Given the description of an element on the screen output the (x, y) to click on. 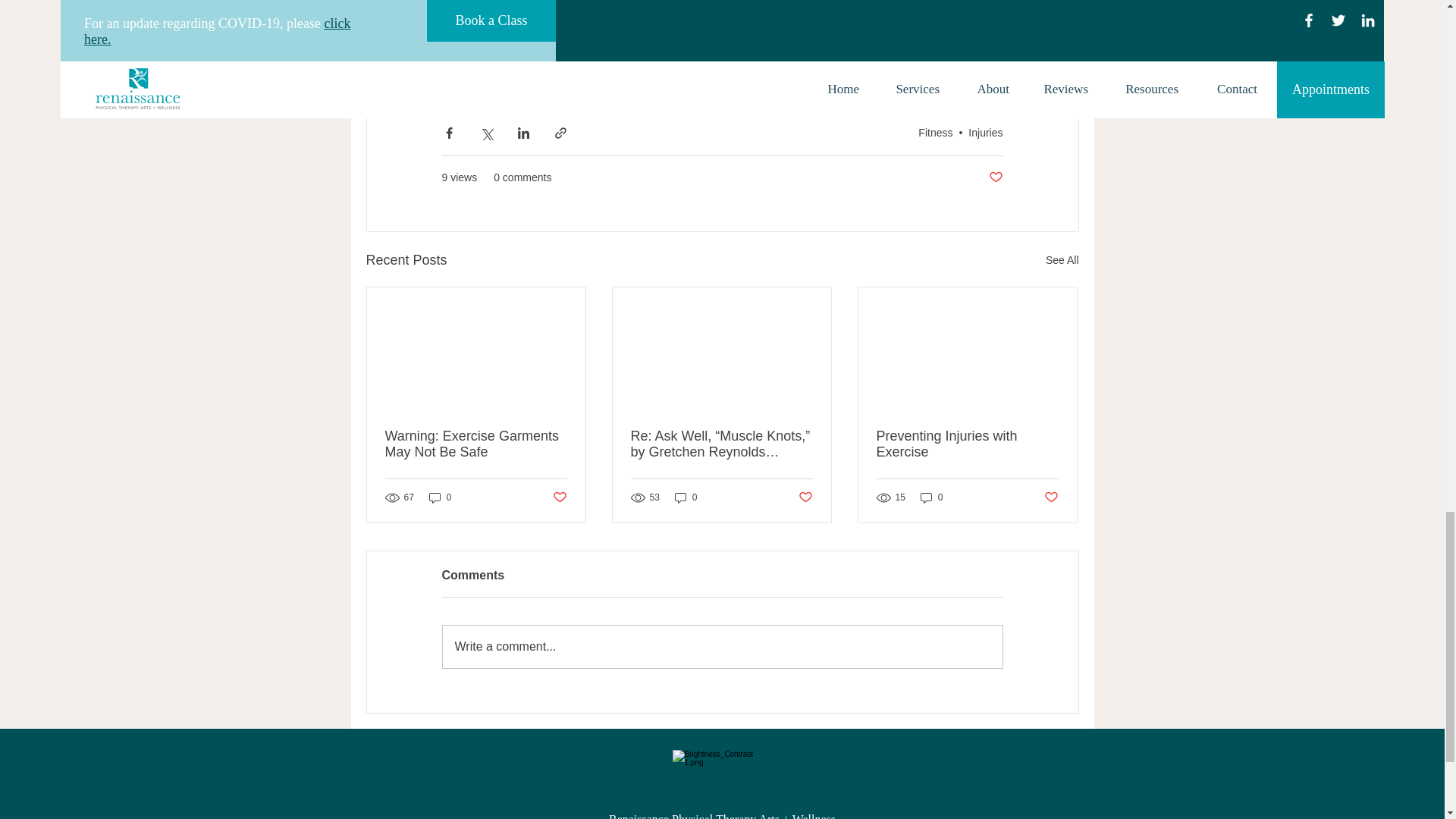
See All (1061, 260)
Warning: Exercise Garments May Not Be Safe (476, 444)
Post not marked as liked (558, 497)
Fitness (935, 132)
0 (440, 497)
Injuries (985, 132)
Post not marked as liked (995, 177)
